Given the description of an element on the screen output the (x, y) to click on. 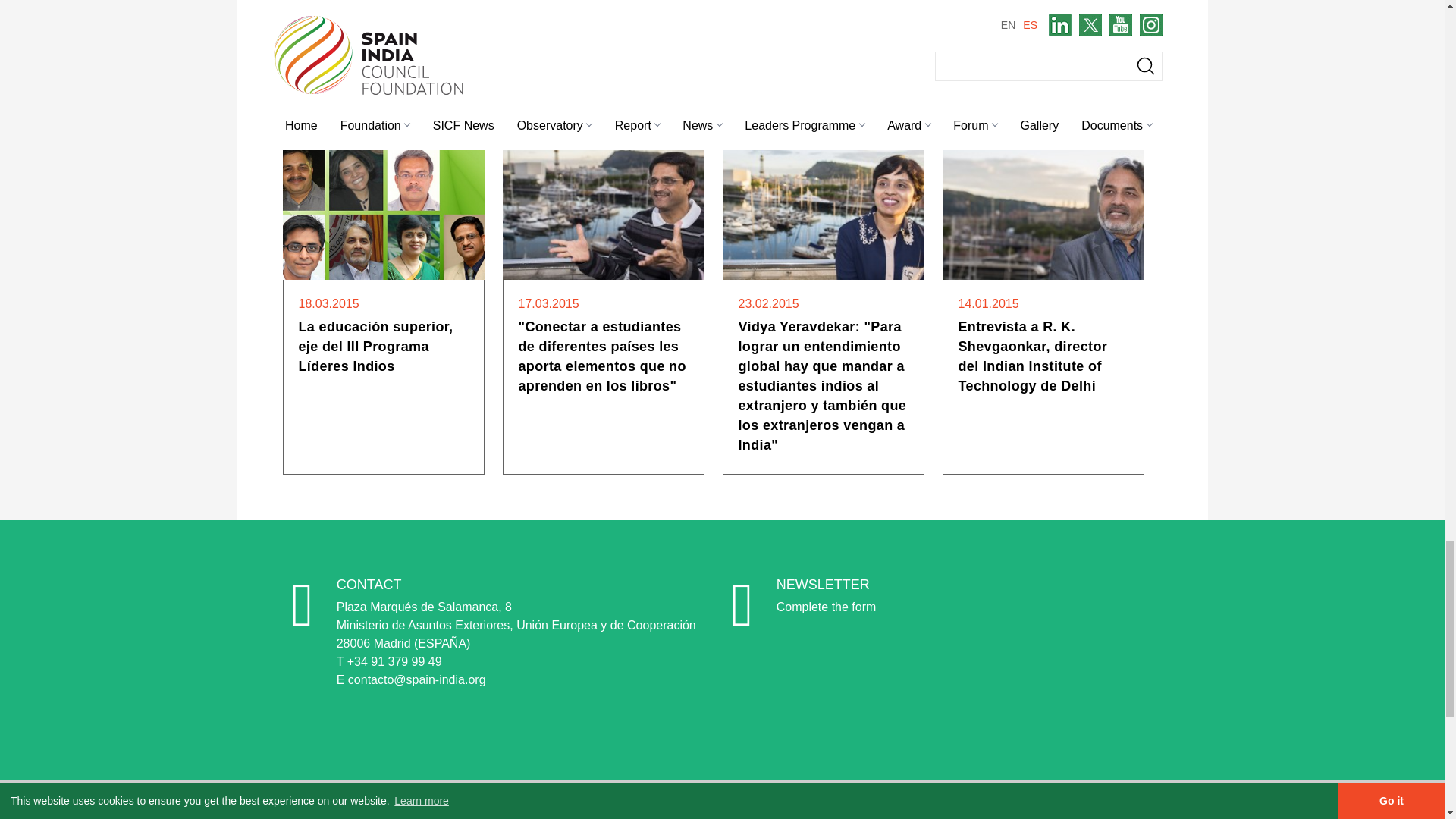
La biblioteca de la Universidad de Valladolid (1006, 25)
